Given the description of an element on the screen output the (x, y) to click on. 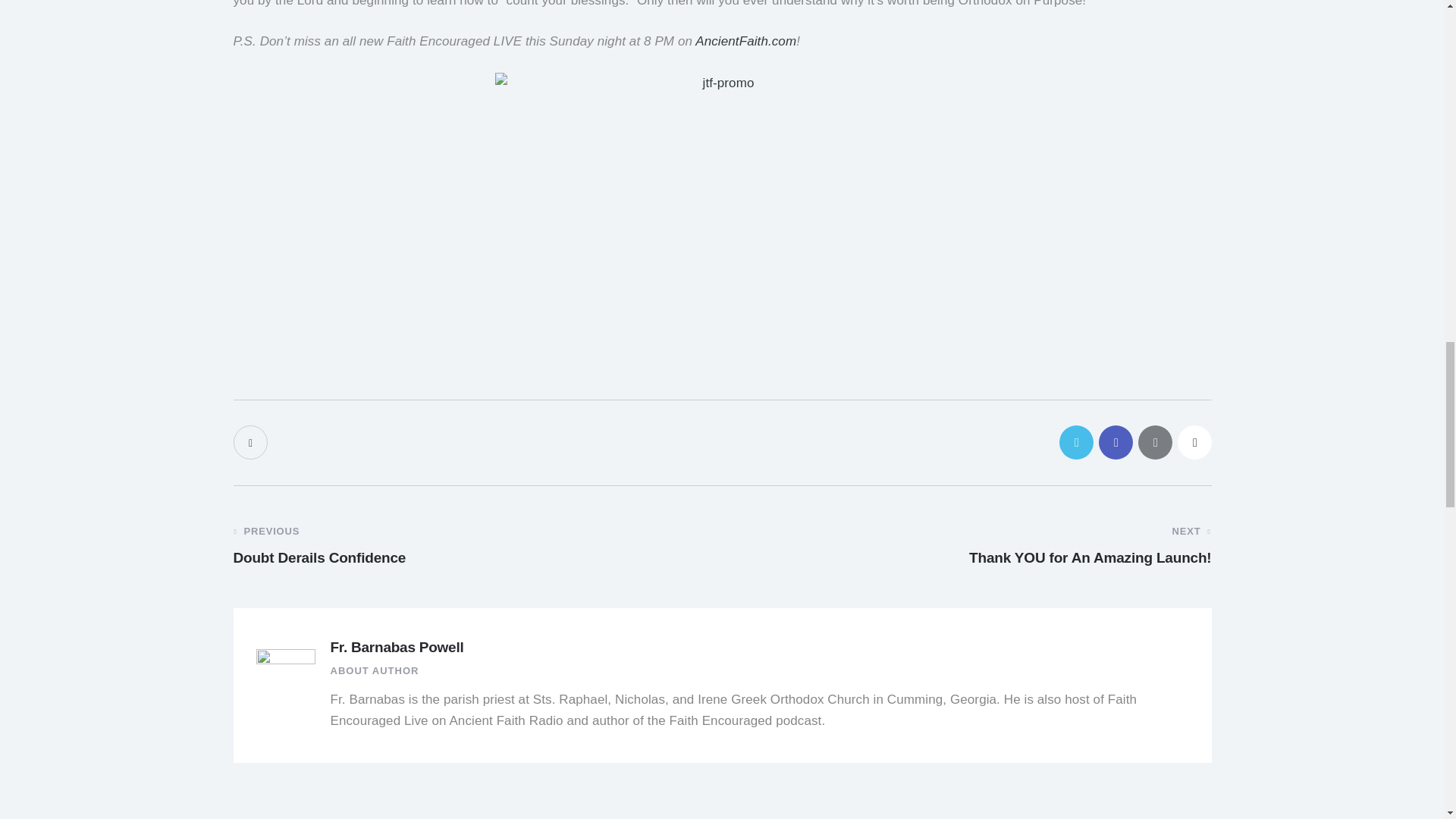
Copy URL to clipboard (1193, 442)
Like (251, 442)
AncientFaith.com (745, 41)
